Given the description of an element on the screen output the (x, y) to click on. 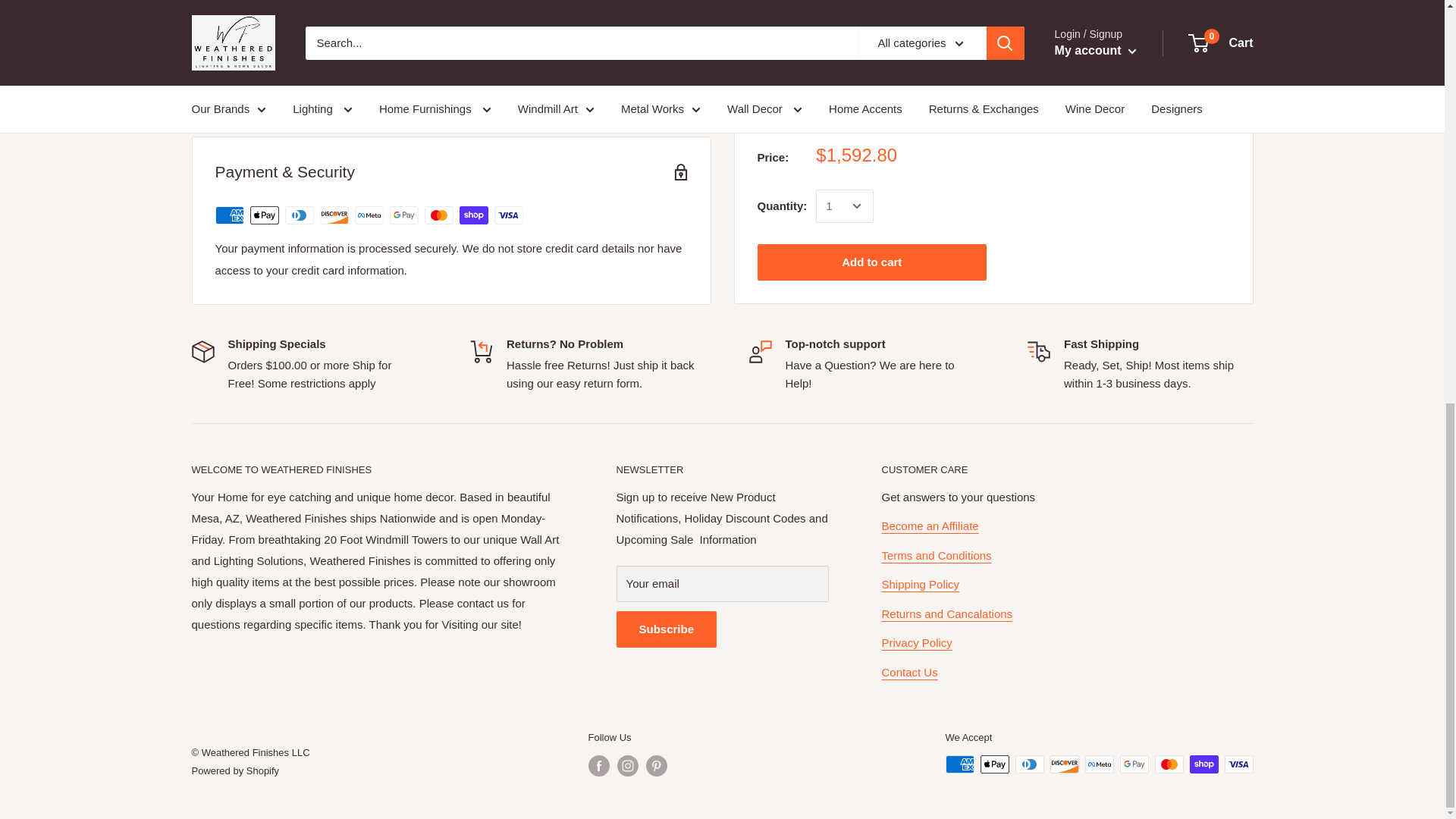
Terms of Service (935, 554)
Privacy Policy (916, 642)
Refund Policy (945, 613)
Contact Information (908, 671)
Affiliate Marketing (929, 525)
Shipping Policy (919, 584)
